Given the description of an element on the screen output the (x, y) to click on. 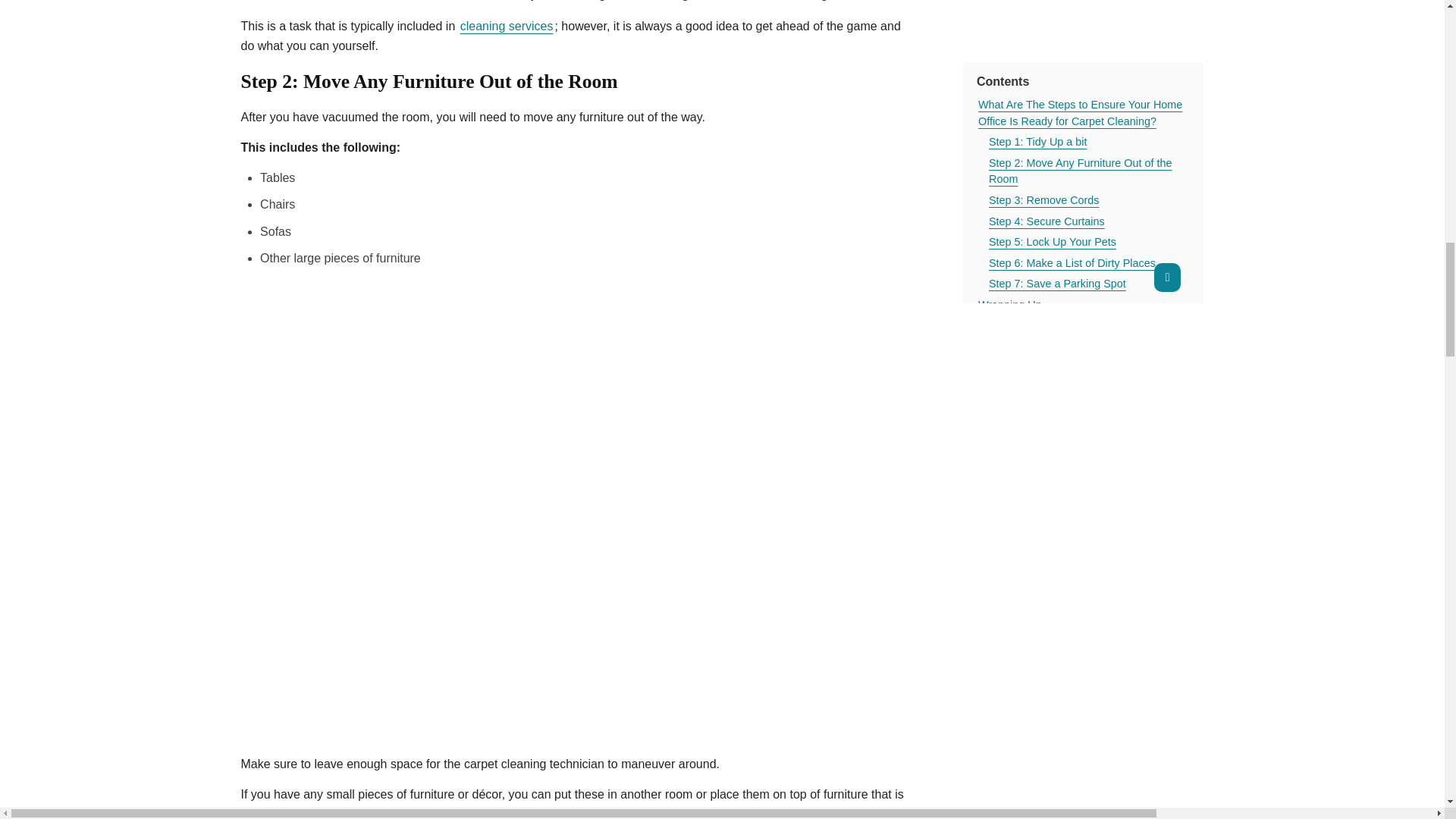
cleaning services (506, 25)
